Given the description of an element on the screen output the (x, y) to click on. 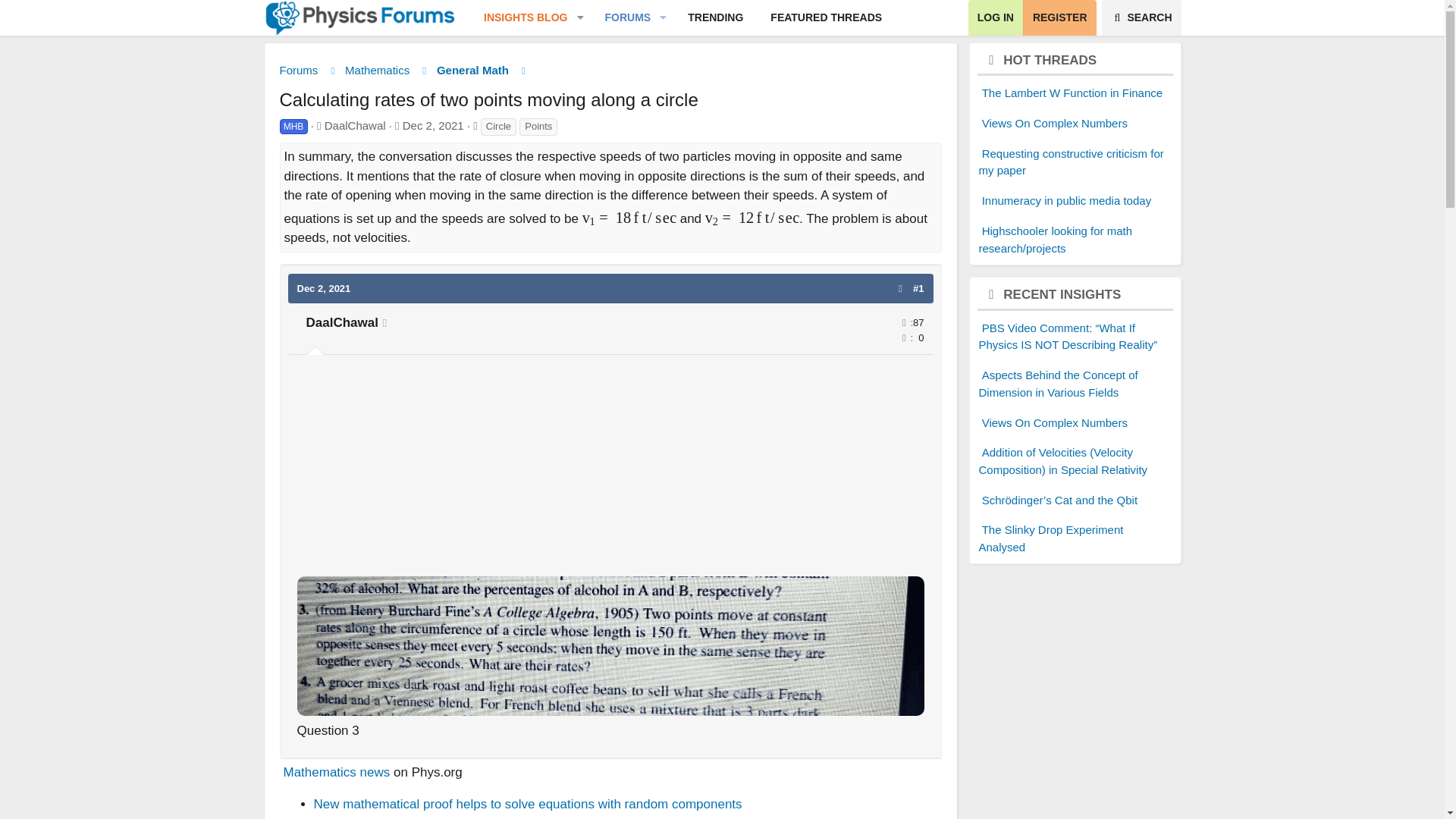
Dec 2, 2021 at 5:51 AM (433, 124)
REGISTER (682, 18)
INSIGHTS BLOG (682, 34)
TRENDING (1059, 18)
SEARCH (519, 18)
Advertisement (715, 18)
Search (1140, 18)
1638445882433.png (610, 469)
FEATURED THREADS (1140, 18)
FORUMS (610, 645)
LOG IN (826, 18)
Dec 2, 2021 at 5:51 AM (621, 18)
1638445882433.png (995, 18)
